Given the description of an element on the screen output the (x, y) to click on. 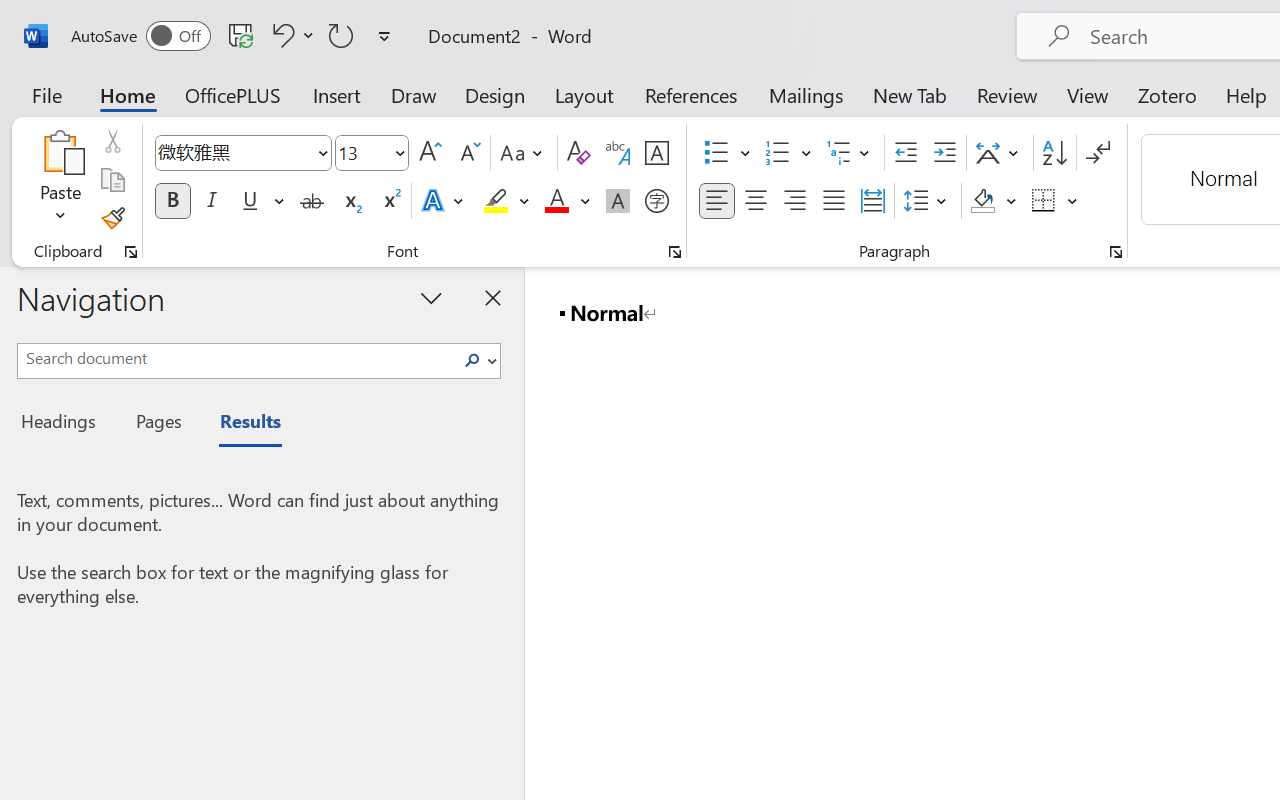
Align Left (716, 201)
Undo <ApplyStyleToDoc>b__0 (280, 35)
Undo <ApplyStyleToDoc>b__0 (290, 35)
Line and Paragraph Spacing (927, 201)
Underline (261, 201)
Cut (112, 141)
Bold (172, 201)
Justify (834, 201)
Draw (413, 94)
Search (478, 360)
Task Pane Options (431, 297)
Results (240, 424)
Font Size (362, 152)
Text Highlight Color Yellow (495, 201)
